Given the description of an element on the screen output the (x, y) to click on. 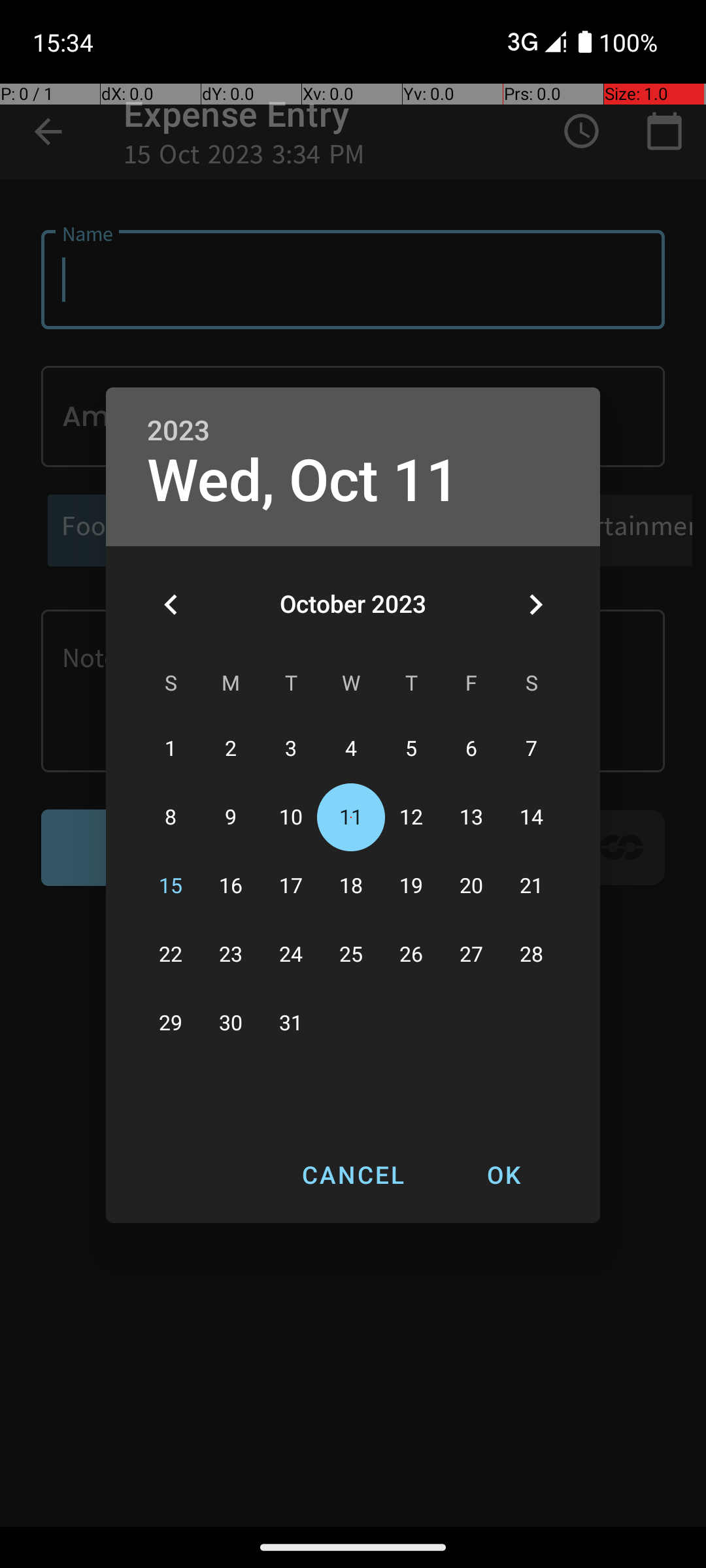
Wed, Oct 11 Element type: android.widget.TextView (303, 480)
